Given the description of an element on the screen output the (x, y) to click on. 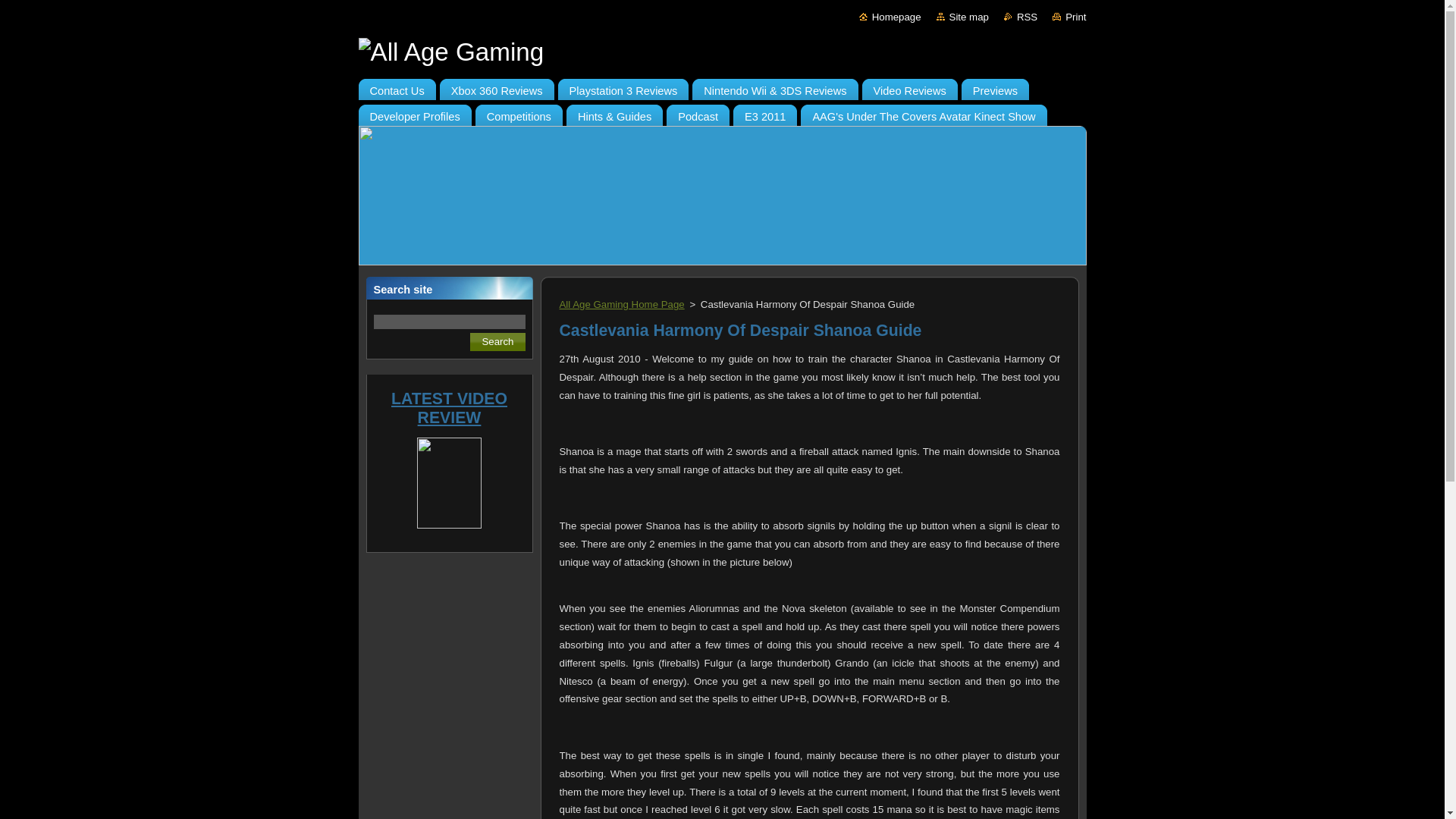
Go to Homepage. (890, 16)
E3 2011 (764, 112)
Search (497, 341)
Print page (1069, 16)
RSS (1020, 16)
Go to Homepage. (722, 51)
Print (1069, 16)
Search (497, 341)
Competitions (519, 112)
All Age Gaming Home Page (621, 304)
Playstation 3 Reviews (622, 86)
Video Reviews (908, 86)
Site map (962, 16)
Xbox 360 Reviews (496, 86)
Developer Profiles (414, 112)
